Given the description of an element on the screen output the (x, y) to click on. 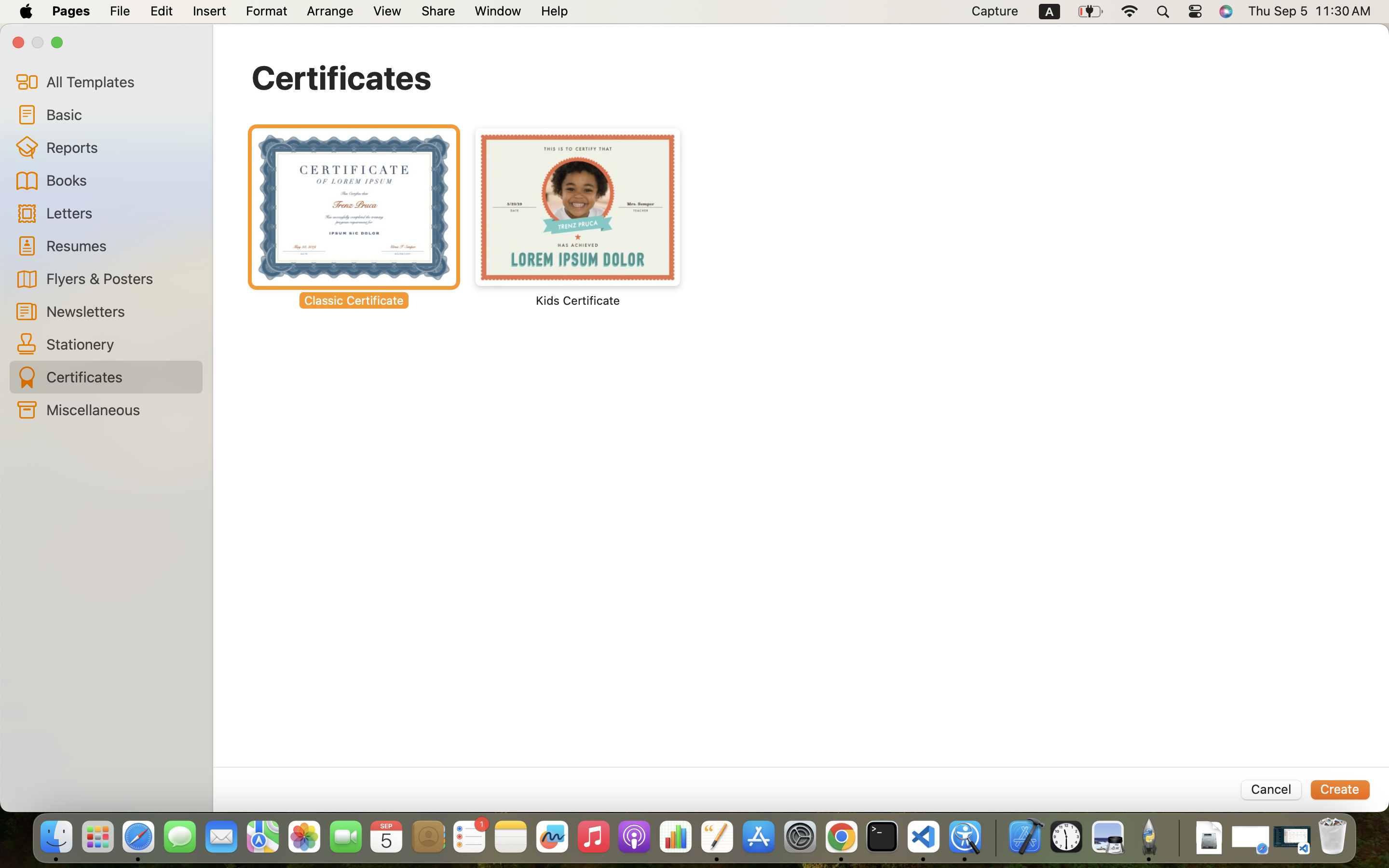
Letters Element type: AXStaticText (120, 212)
Books Element type: AXStaticText (120, 179)
Stationery Element type: AXStaticText (120, 343)
‎⁨Kids Certificate⁩ Element type: AXButton (577, 217)
